Given the description of an element on the screen output the (x, y) to click on. 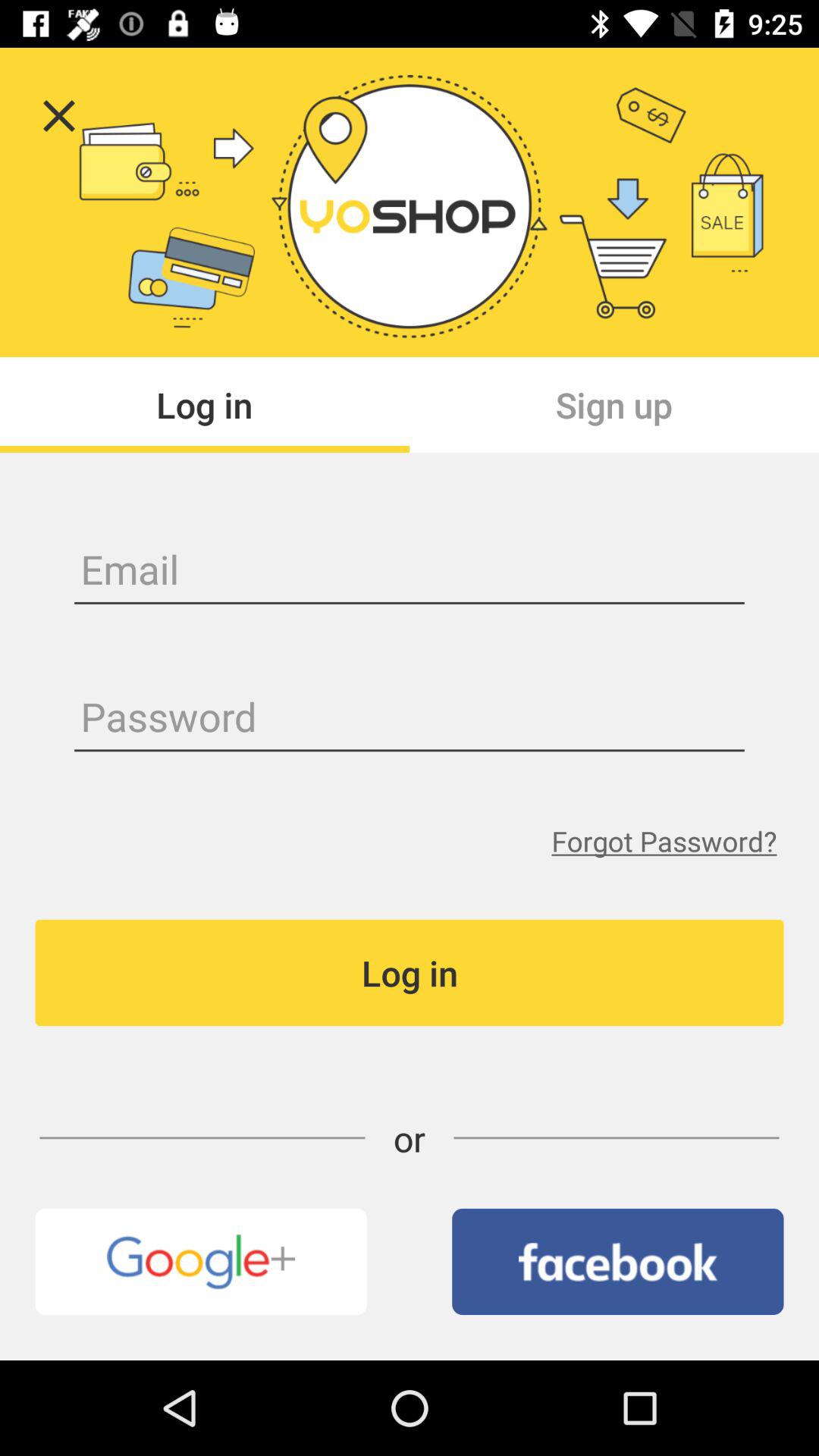
add google information (200, 1261)
